Given the description of an element on the screen output the (x, y) to click on. 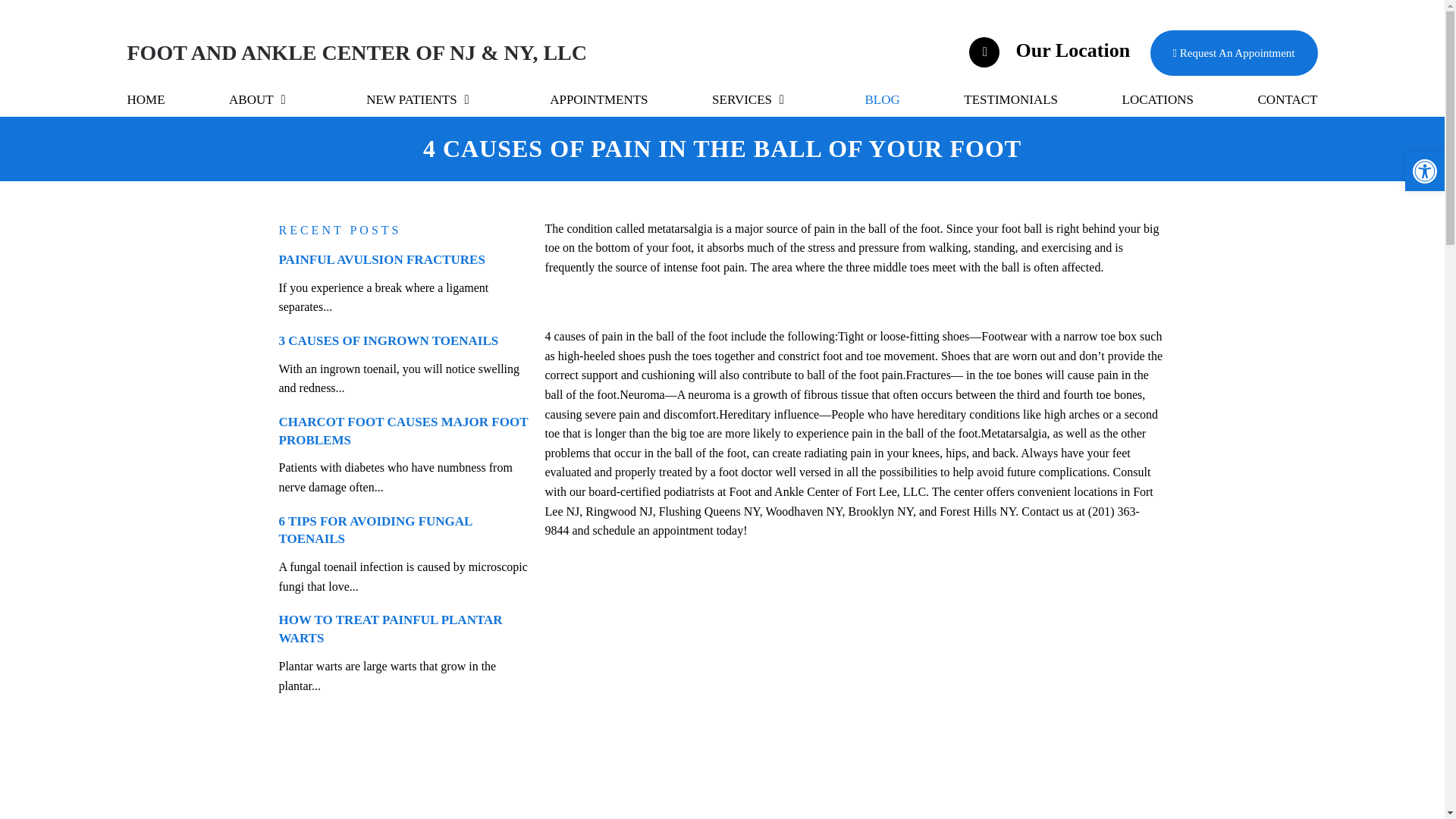
LOCATIONS (1157, 99)
APPOINTMENTS (598, 99)
HOME (146, 99)
TESTIMONIALS (1010, 99)
SERVICES (755, 99)
NEW PATIENTS (425, 99)
Our Location (1051, 50)
Accessibility Tools (1424, 170)
PAINFUL AVULSION FRACTURES (381, 259)
BLOG (881, 99)
ABOUT (265, 99)
CONTACT (1287, 99)
Request An Appointment (1233, 53)
